Given the description of an element on the screen output the (x, y) to click on. 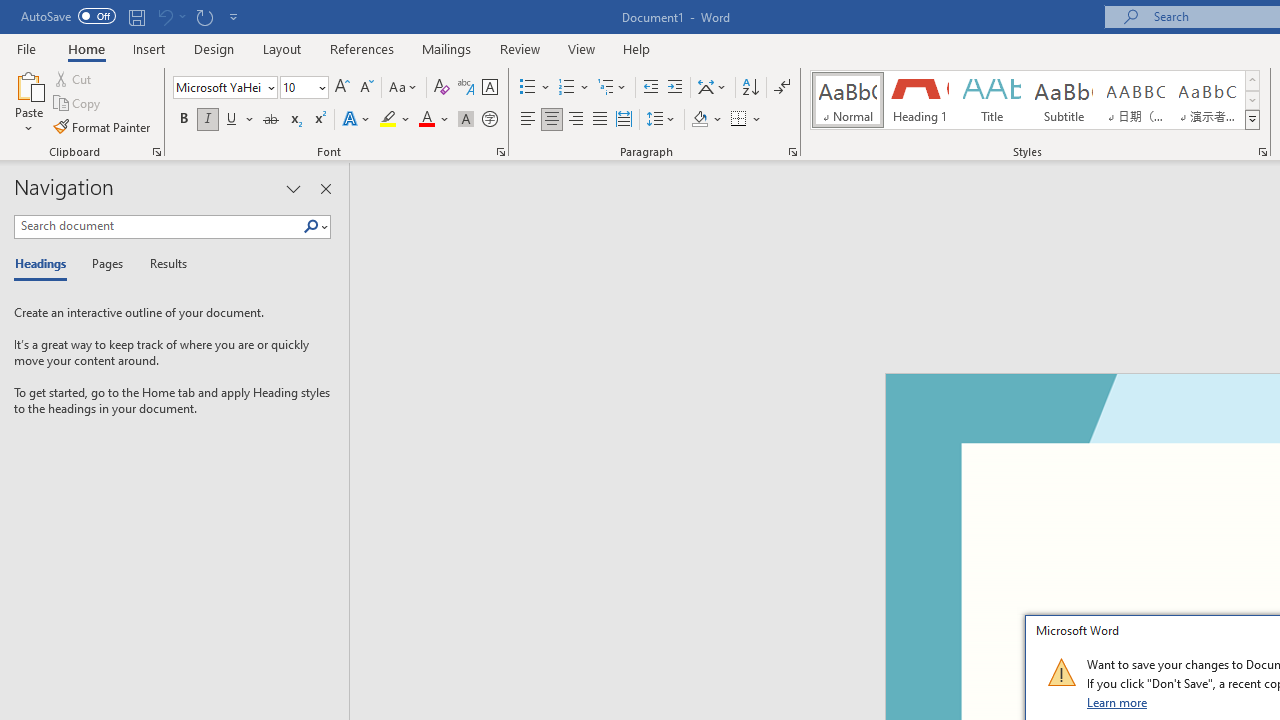
Borders (739, 119)
Show/Hide Editing Marks (781, 87)
Paste (28, 102)
References (362, 48)
Paragraph... (792, 151)
AutomationID: QuickStylesGallery (1035, 99)
Open (320, 87)
Layout (282, 48)
Text Highlight Color (395, 119)
Underline (239, 119)
Subtitle (1063, 100)
Bullets (527, 87)
Strikethrough (270, 119)
